Given the description of an element on the screen output the (x, y) to click on. 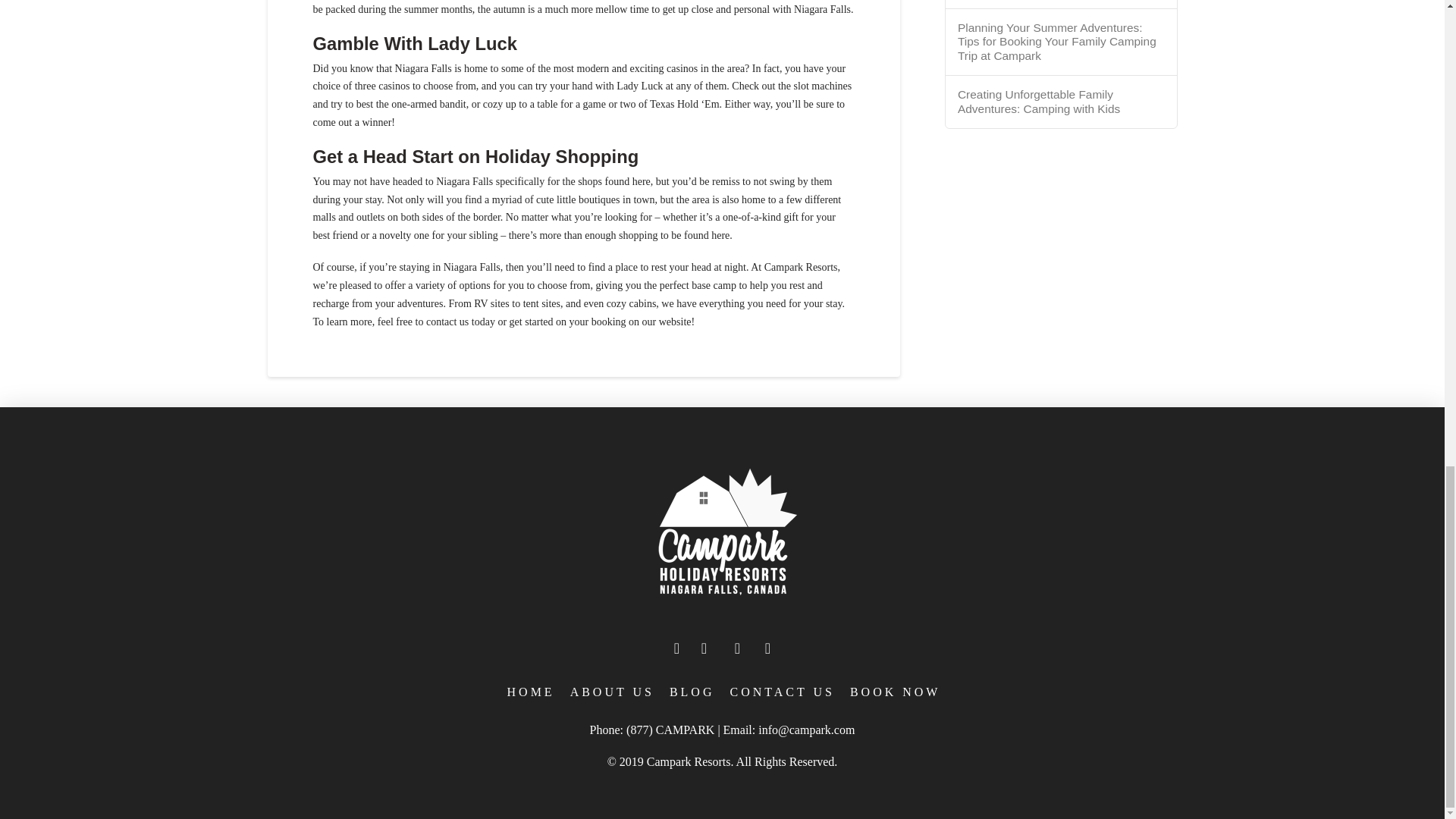
HOME (528, 691)
your booking (597, 321)
contact us today (460, 321)
Creating Unforgettable Family Adventures: Camping with Kids (1061, 101)
